Given the description of an element on the screen output the (x, y) to click on. 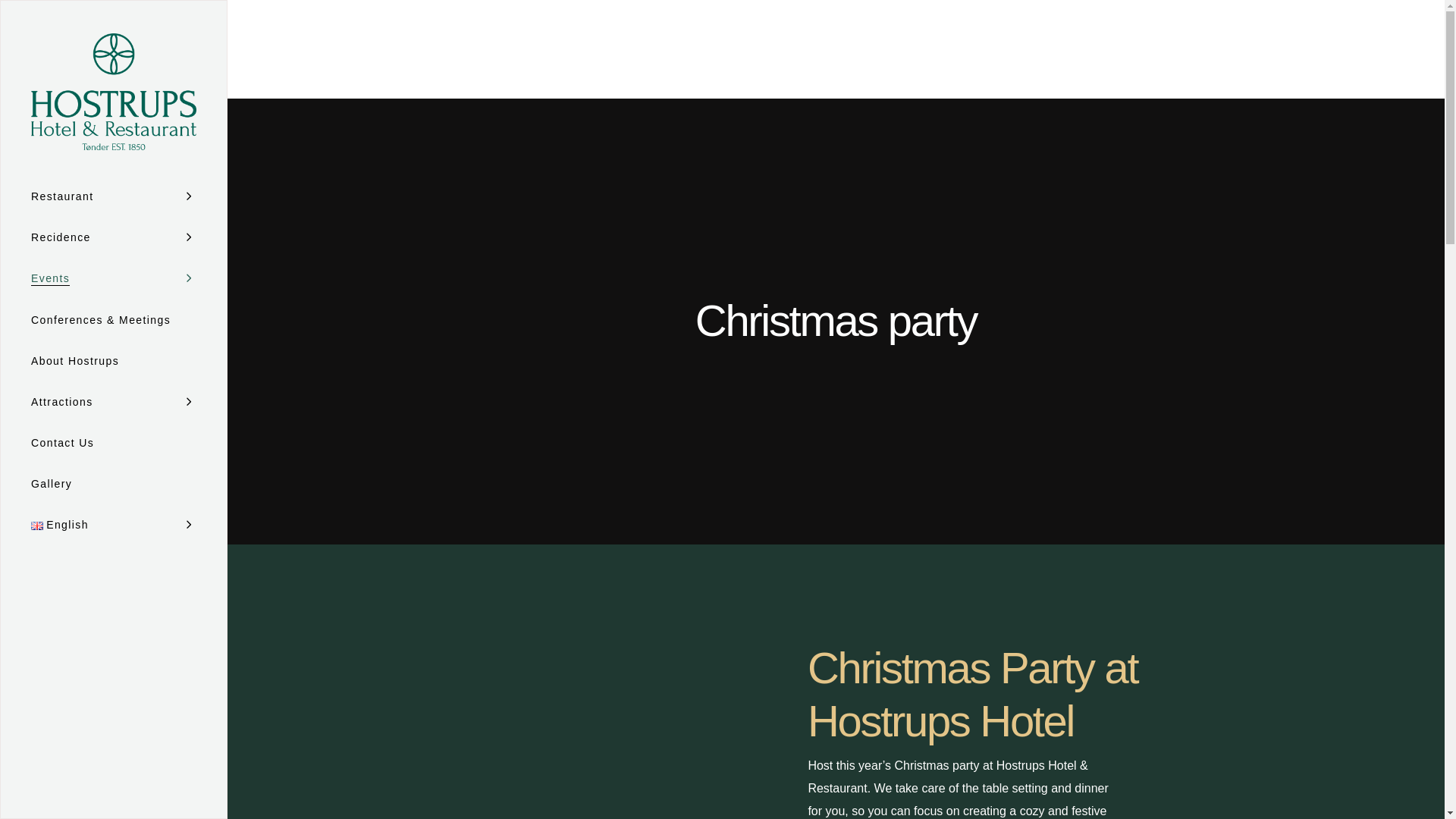
Contact Us (113, 442)
Events (113, 278)
Gallery (113, 483)
English (113, 524)
Recidence (113, 237)
Restaurant (113, 196)
Attractions (113, 401)
About Hostrups (113, 361)
